Given the description of an element on the screen output the (x, y) to click on. 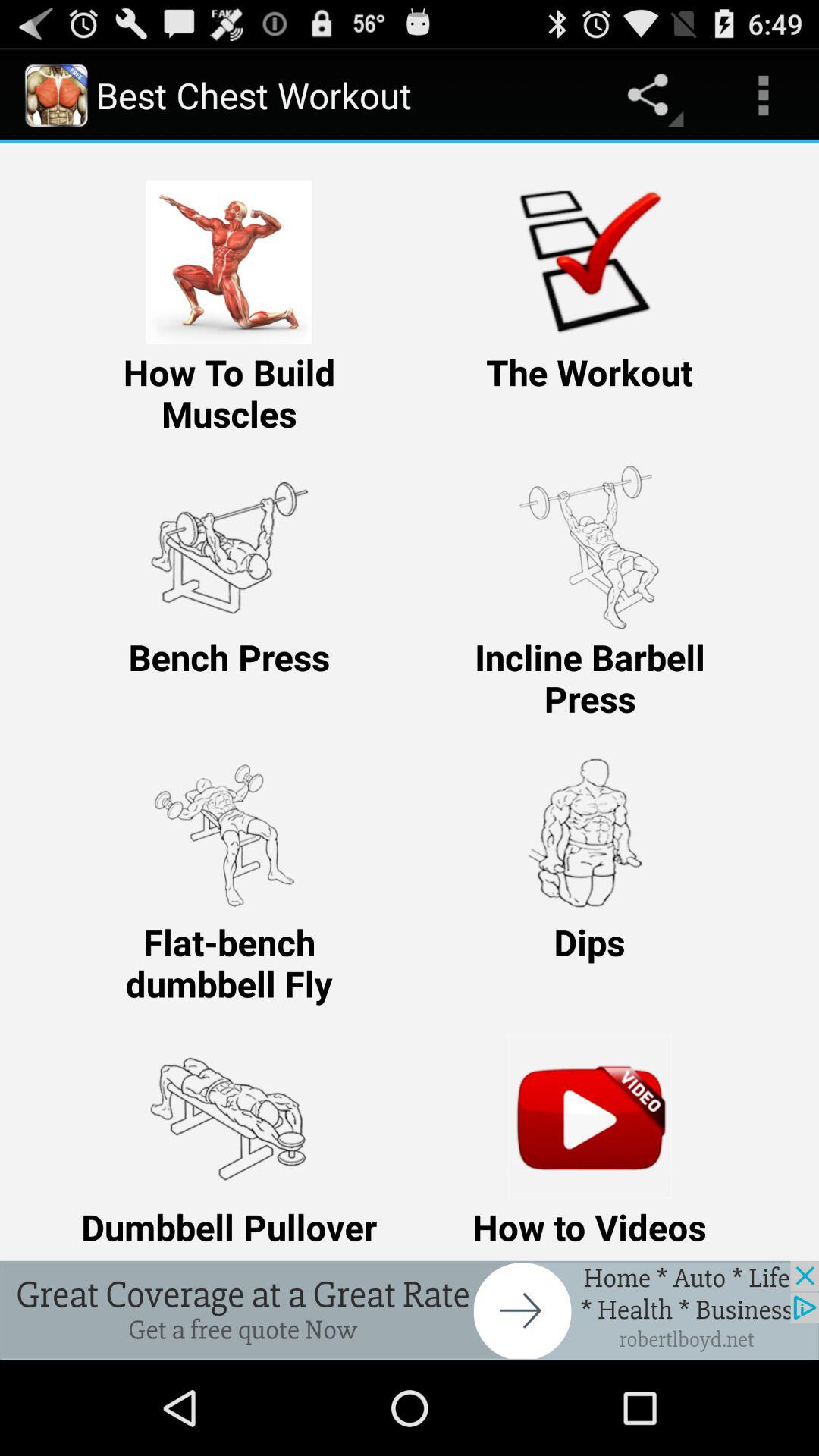
open advertisement (409, 1310)
